Given the description of an element on the screen output the (x, y) to click on. 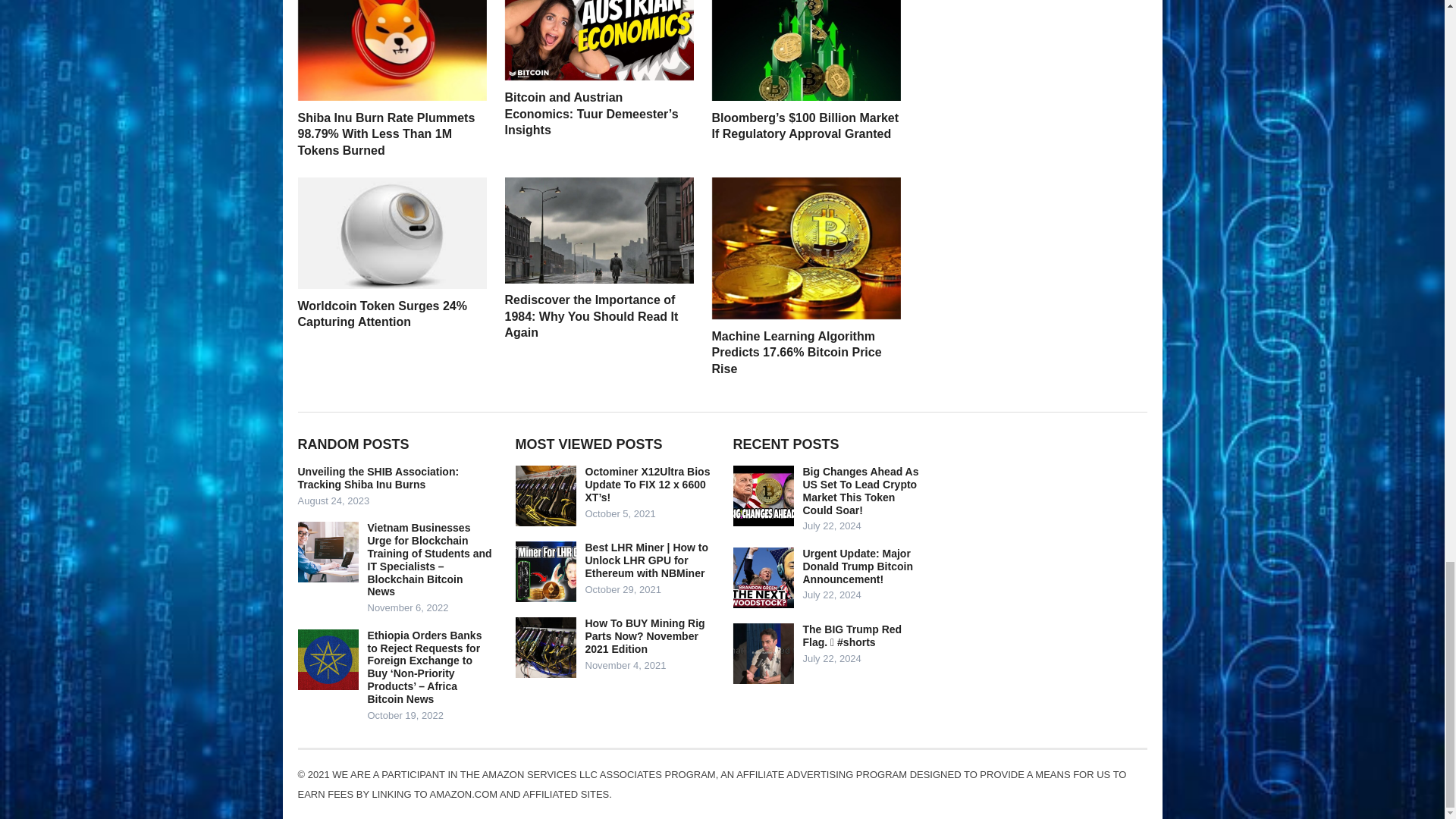
Bitcoin and Austrian Economics: Tuur Demeester's Insights 5 (599, 40)
